Given the description of an element on the screen output the (x, y) to click on. 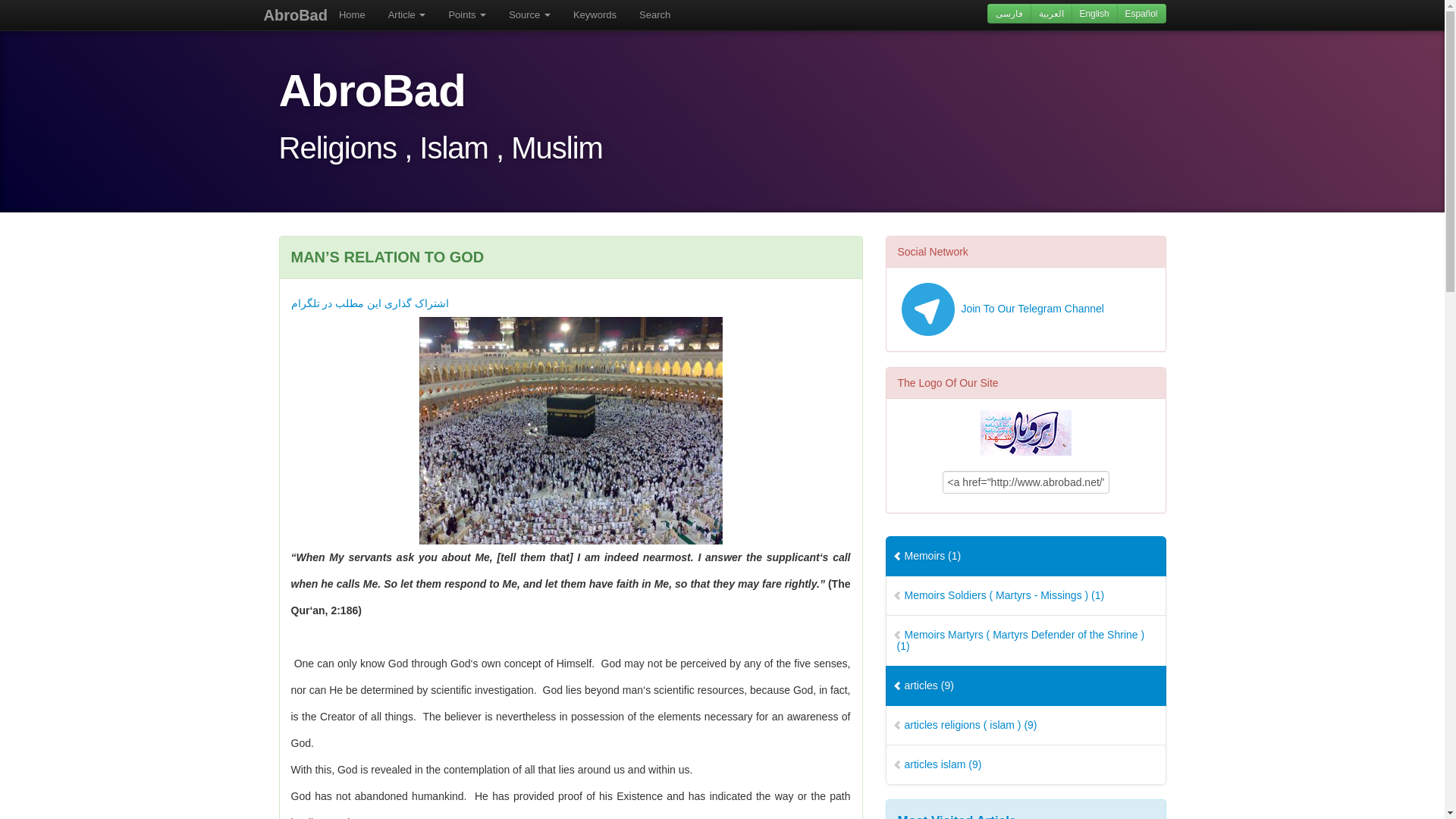
articles (1025, 685)
English (1094, 13)
Soldier (1025, 595)
Martyr (1025, 640)
English (1094, 13)
Source (529, 15)
religion (1025, 725)
islam (1025, 764)
Memoirs (1025, 556)
AbroBad (295, 15)
